Given the description of an element on the screen output the (x, y) to click on. 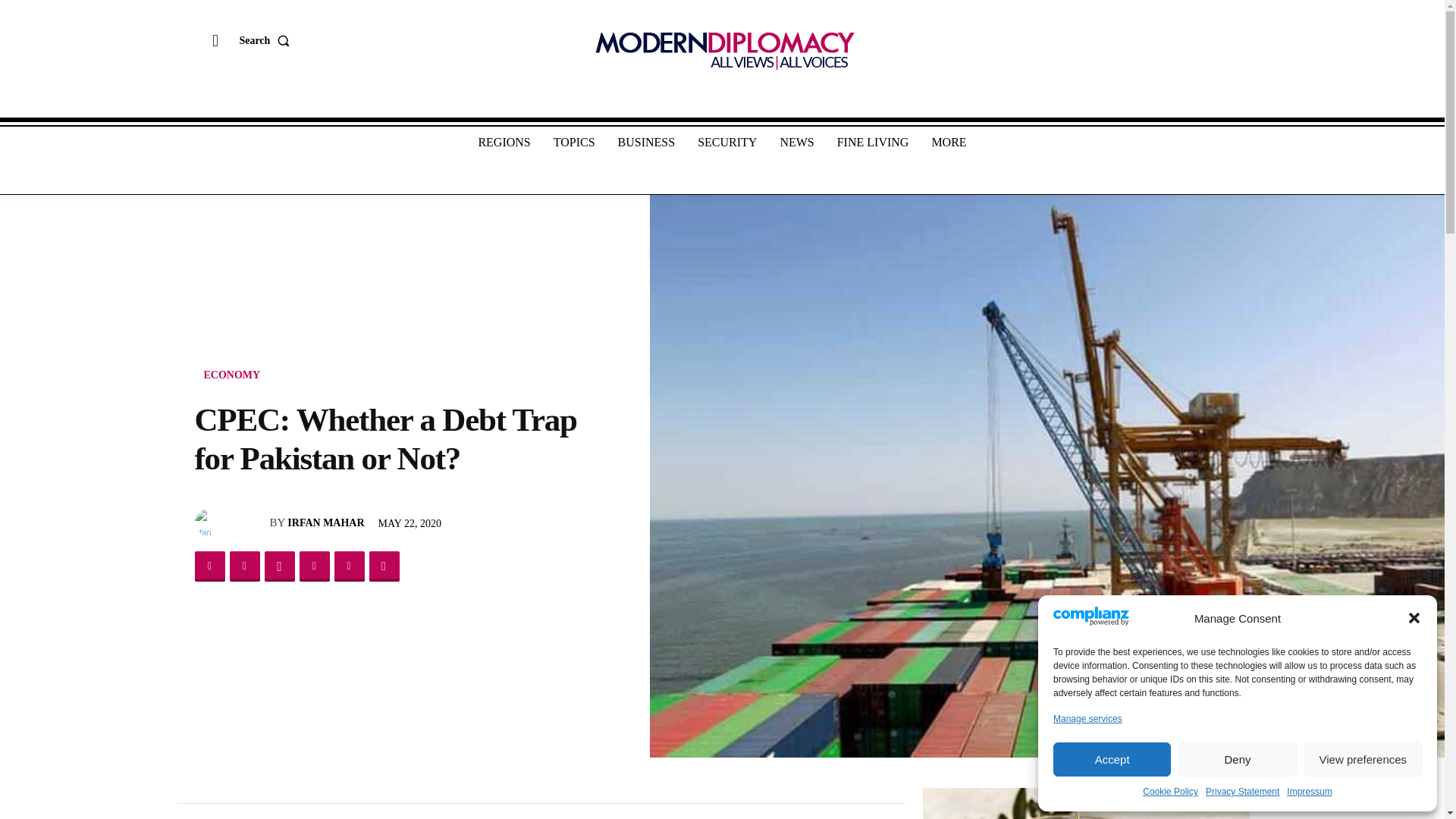
Manage services (1087, 719)
Facebook (208, 566)
Privacy Statement (1242, 791)
Deny (1236, 759)
WhatsApp (278, 566)
Irfan Mahar (209, 522)
Impressum (1309, 791)
View preferences (1363, 759)
Linkedin (313, 566)
Cookie Policy (1170, 791)
Twitter (243, 566)
Accept (1111, 759)
